Given the description of an element on the screen output the (x, y) to click on. 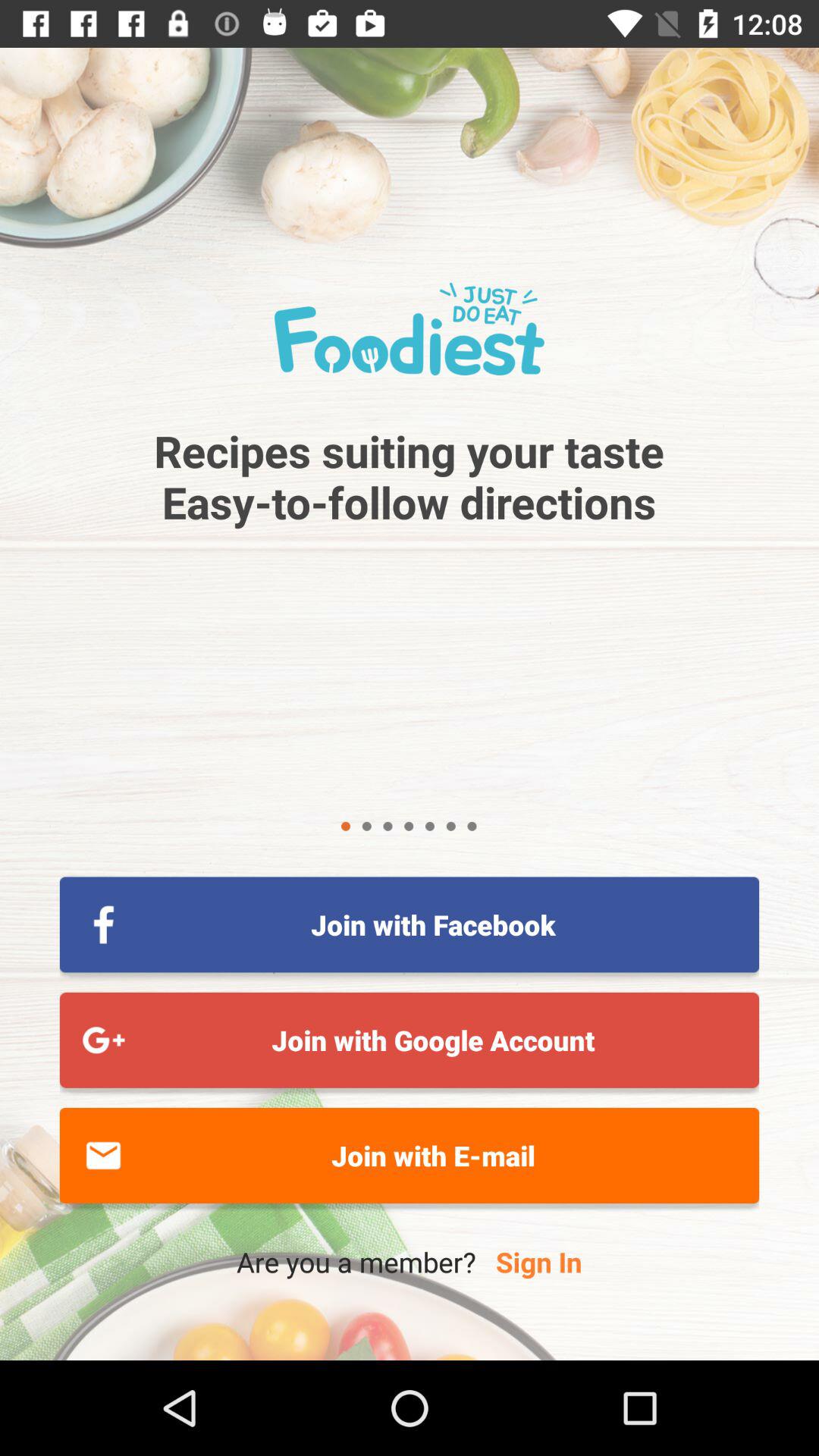
select the sign in item (538, 1261)
